Given the description of an element on the screen output the (x, y) to click on. 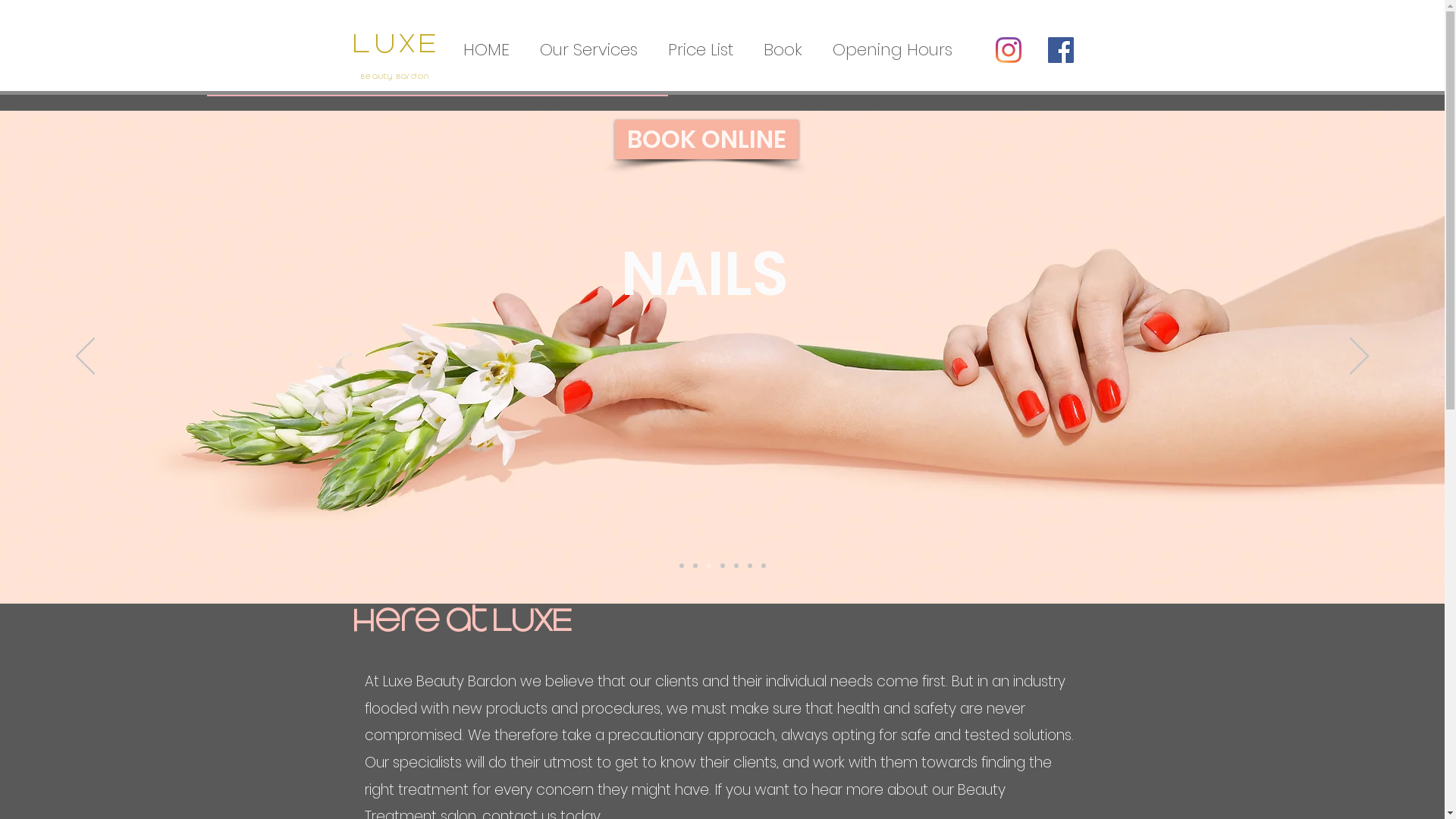
Our Services Element type: text (588, 49)
BOOK ONLINE Element type: text (705, 139)
Price List Element type: text (699, 49)
Opening Hours Element type: text (892, 49)
HOME Element type: text (485, 49)
NAILS Element type: text (703, 273)
Book Element type: text (781, 49)
